Given the description of an element on the screen output the (x, y) to click on. 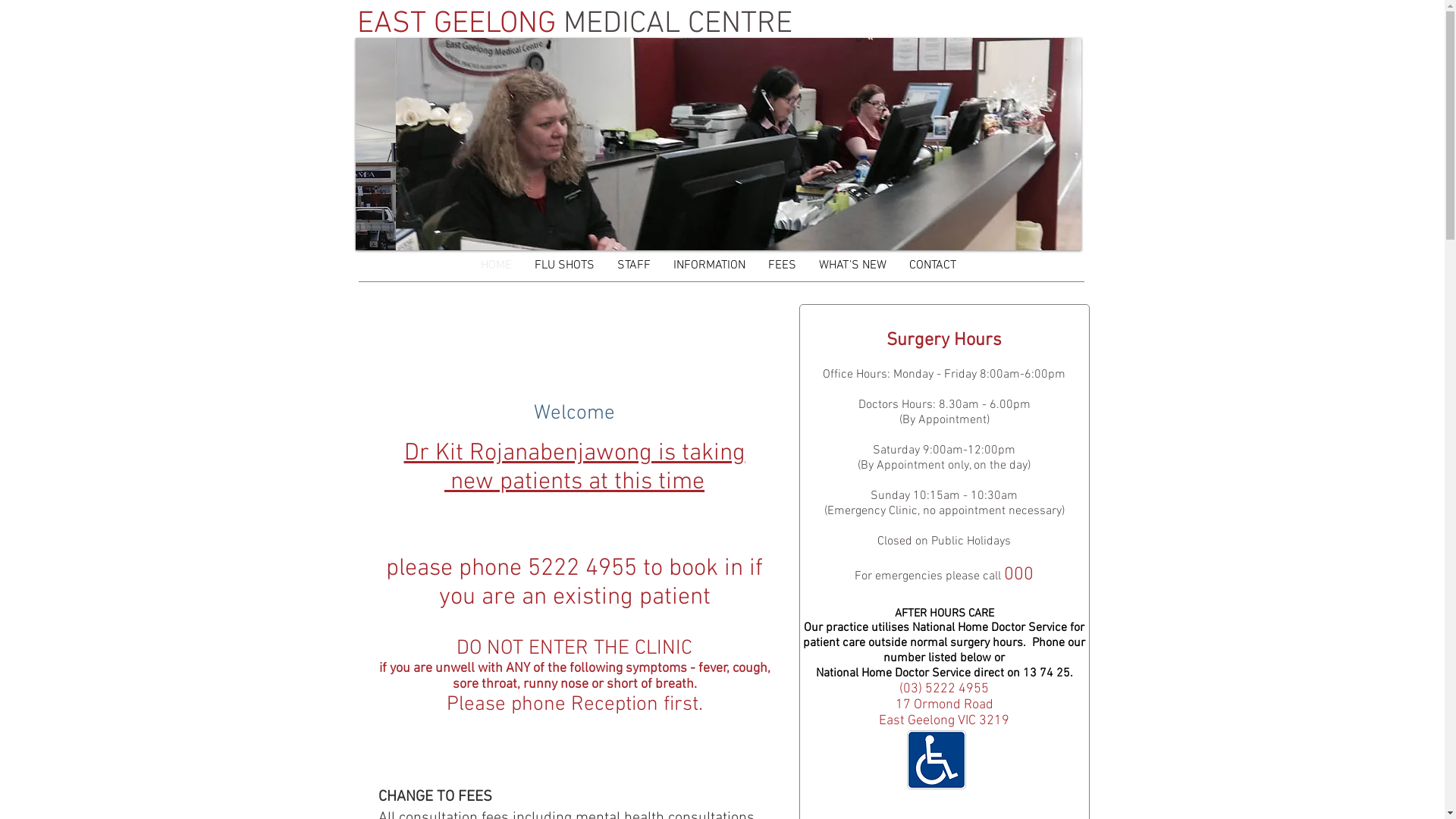
WHAT'S NEW Element type: text (851, 265)
INFORMATION Element type: text (708, 265)
FLU SHOTS Element type: text (564, 265)
CONTACT Element type: text (932, 265)
EAST Element type: text (390, 24)
FEES Element type: text (781, 265)
East Geelong Medical Centre Element type: hover (936, 759)
HOME Element type: text (495, 265)
STAFF Element type: text (633, 265)
